Given the description of an element on the screen output the (x, y) to click on. 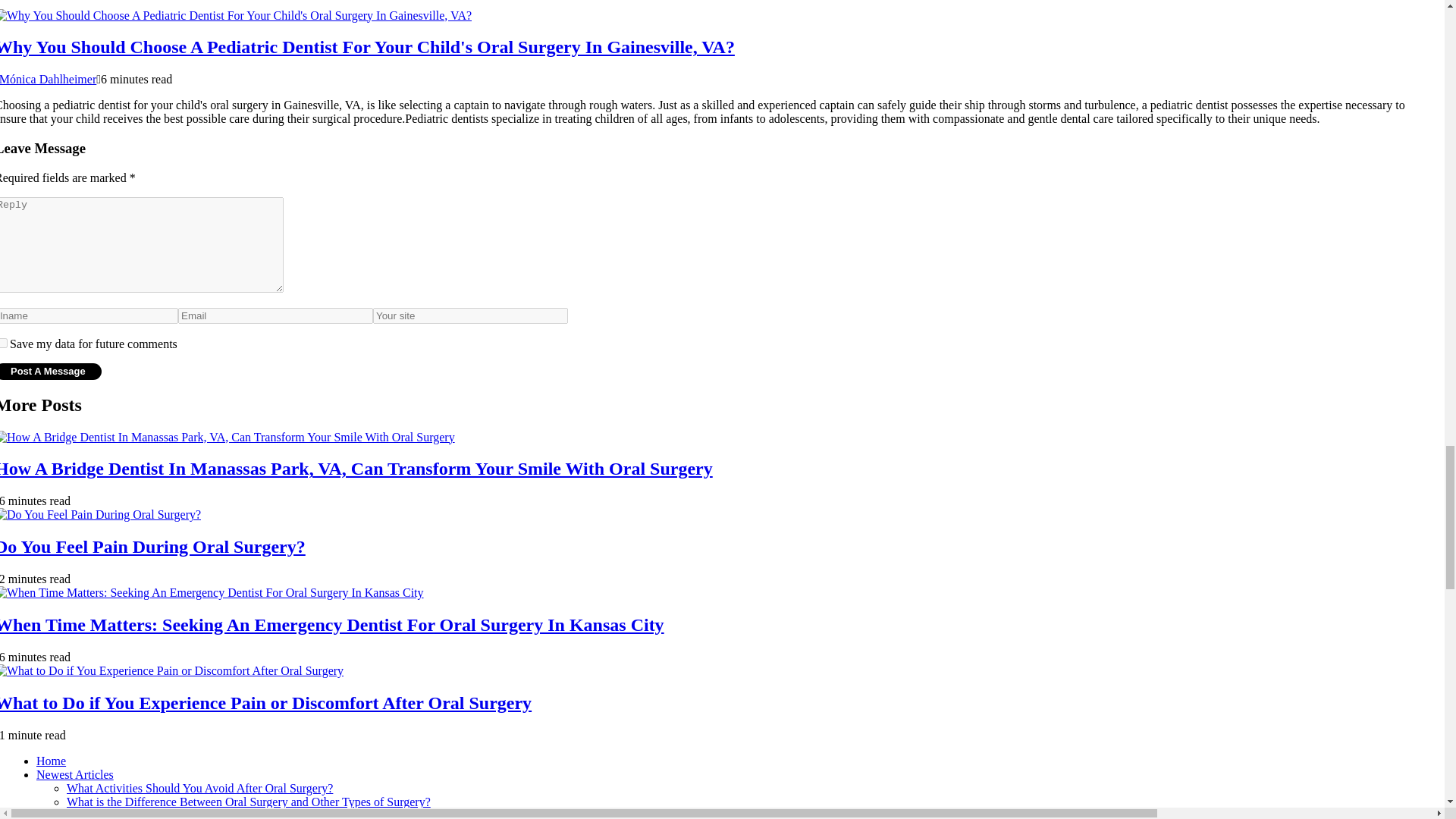
Post a Message (50, 371)
Post a Message (50, 371)
Do You Feel Pain During Oral Surgery? (152, 546)
